Given the description of an element on the screen output the (x, y) to click on. 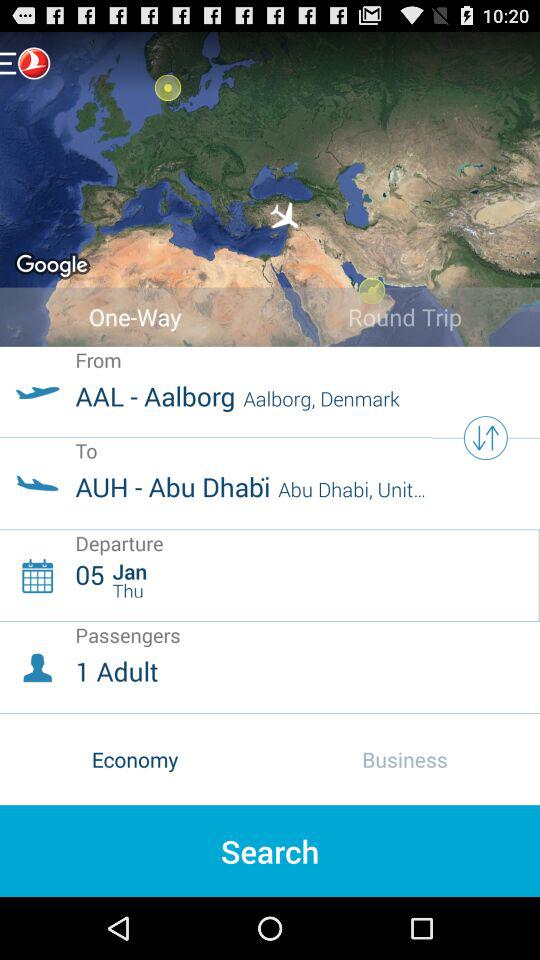
menu (25, 62)
